Given the description of an element on the screen output the (x, y) to click on. 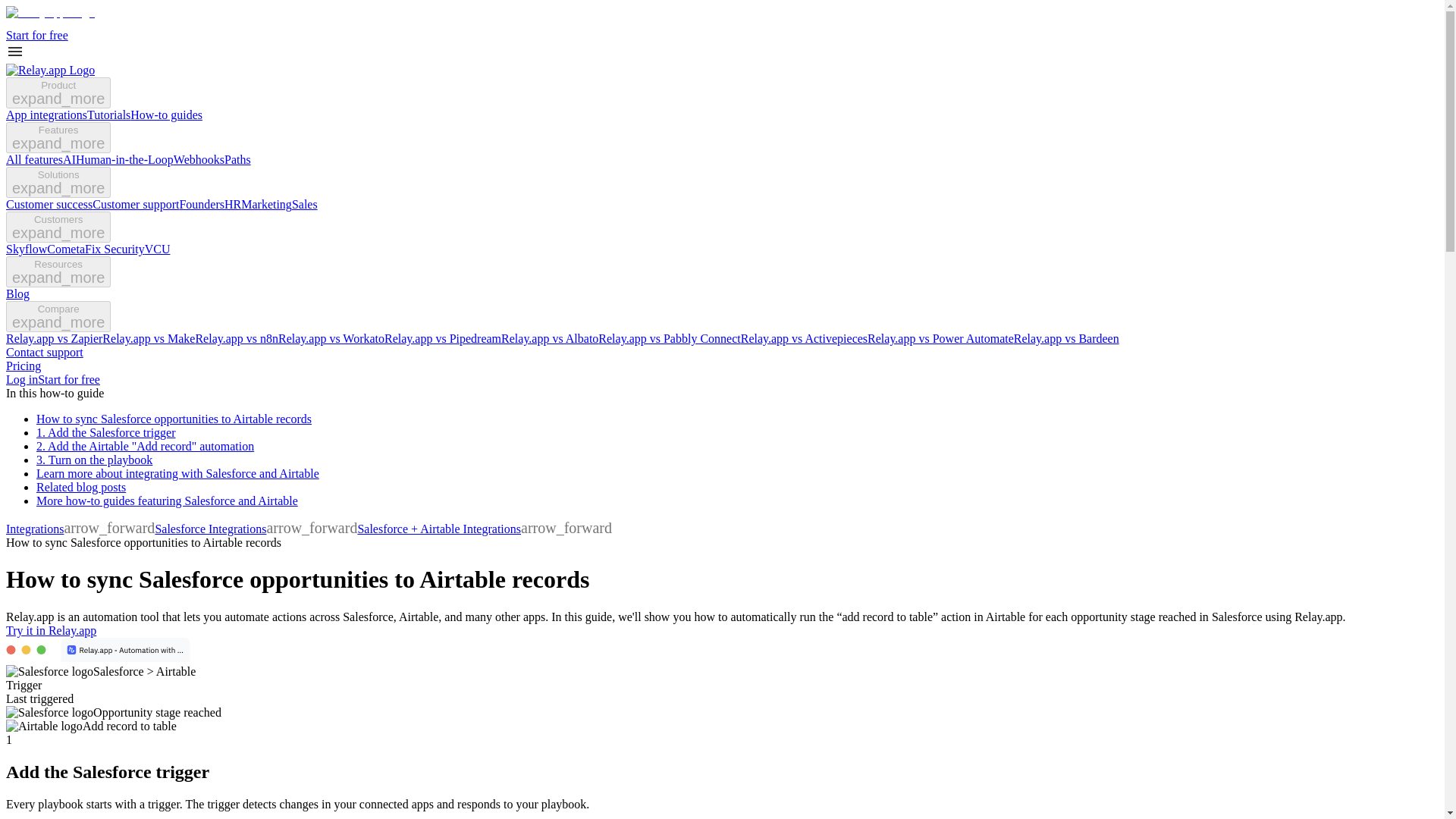
Human-in-the-Loop (124, 159)
Webhooks (198, 159)
Relay.app vs Workato (331, 338)
Contact support (43, 351)
Tutorials (109, 114)
How-to guides (166, 114)
Customer support (136, 204)
Relay.app vs Albato (549, 338)
Relay.app vs Pabbly Connect (668, 338)
Relay.app vs Power Automate (940, 338)
Customer success (49, 204)
Sales (304, 204)
Relay.app vs Bardeen (1066, 338)
Cometa (65, 248)
Founders (201, 204)
